Given the description of an element on the screen output the (x, y) to click on. 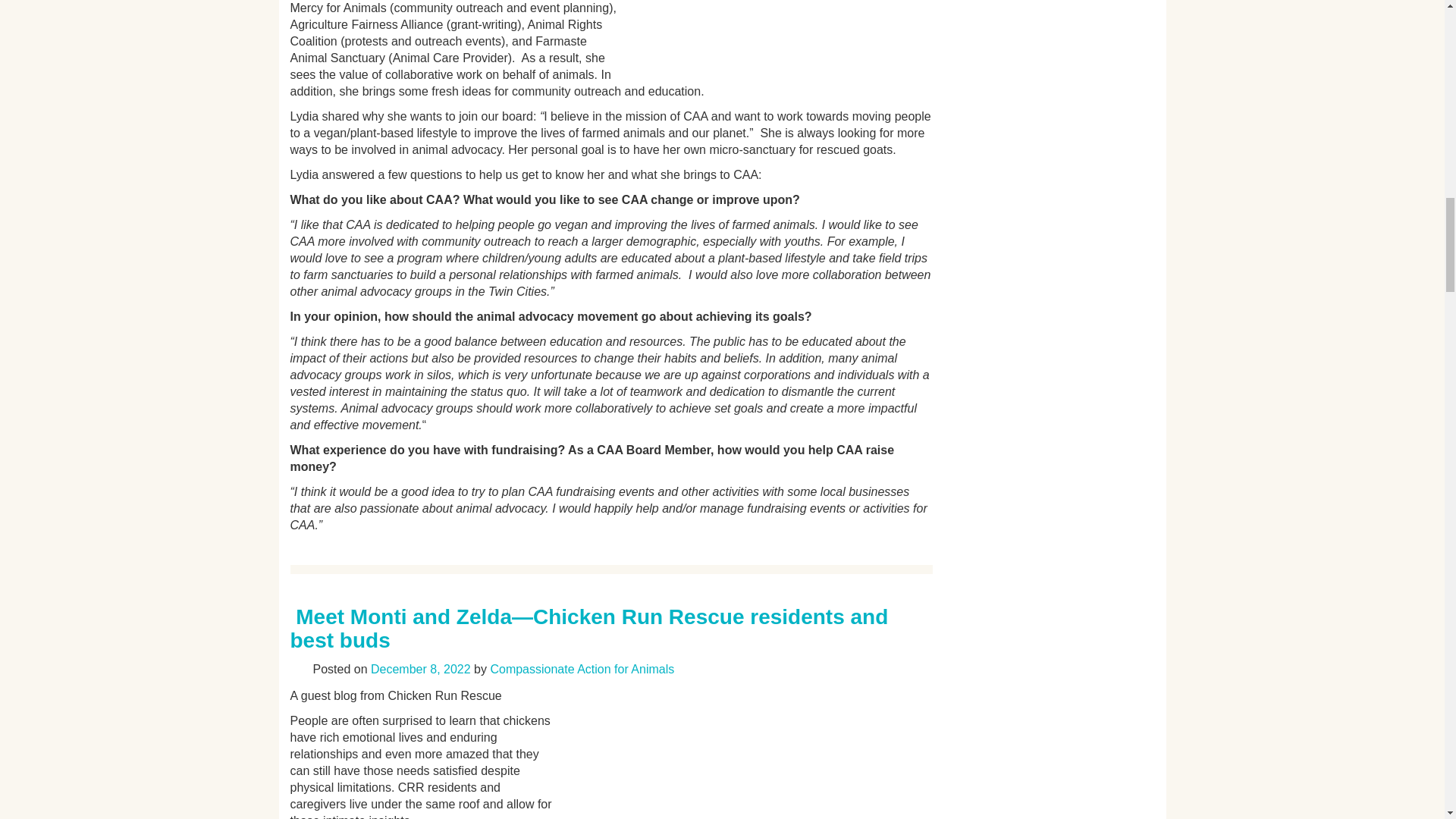
12:11 pm (420, 668)
December 8, 2022 (420, 668)
View all posts by Compassionate Action for Animals (581, 668)
Compassionate Action for Animals (581, 668)
